Given the description of an element on the screen output the (x, y) to click on. 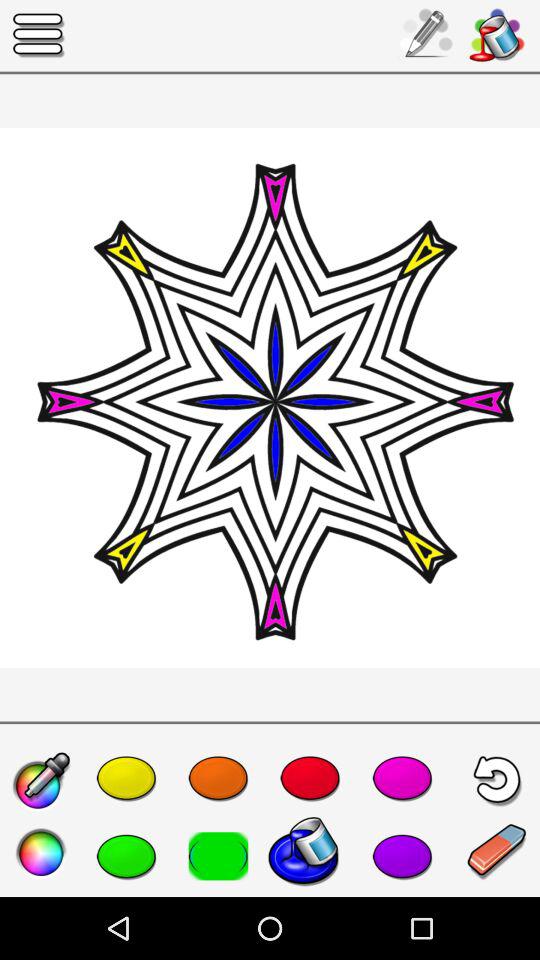
select the color which is to the immediate right of blue color in the second row (402, 855)
select the color which is to the immediate left of the blue color in the second row (211, 851)
select the green color (126, 855)
select a orange circle on a page (218, 777)
click on the color which is bottom left side (41, 853)
click on the more options icon on the top of the page (38, 35)
select the fourth button which is in the second row (309, 855)
